Given the description of an element on the screen output the (x, y) to click on. 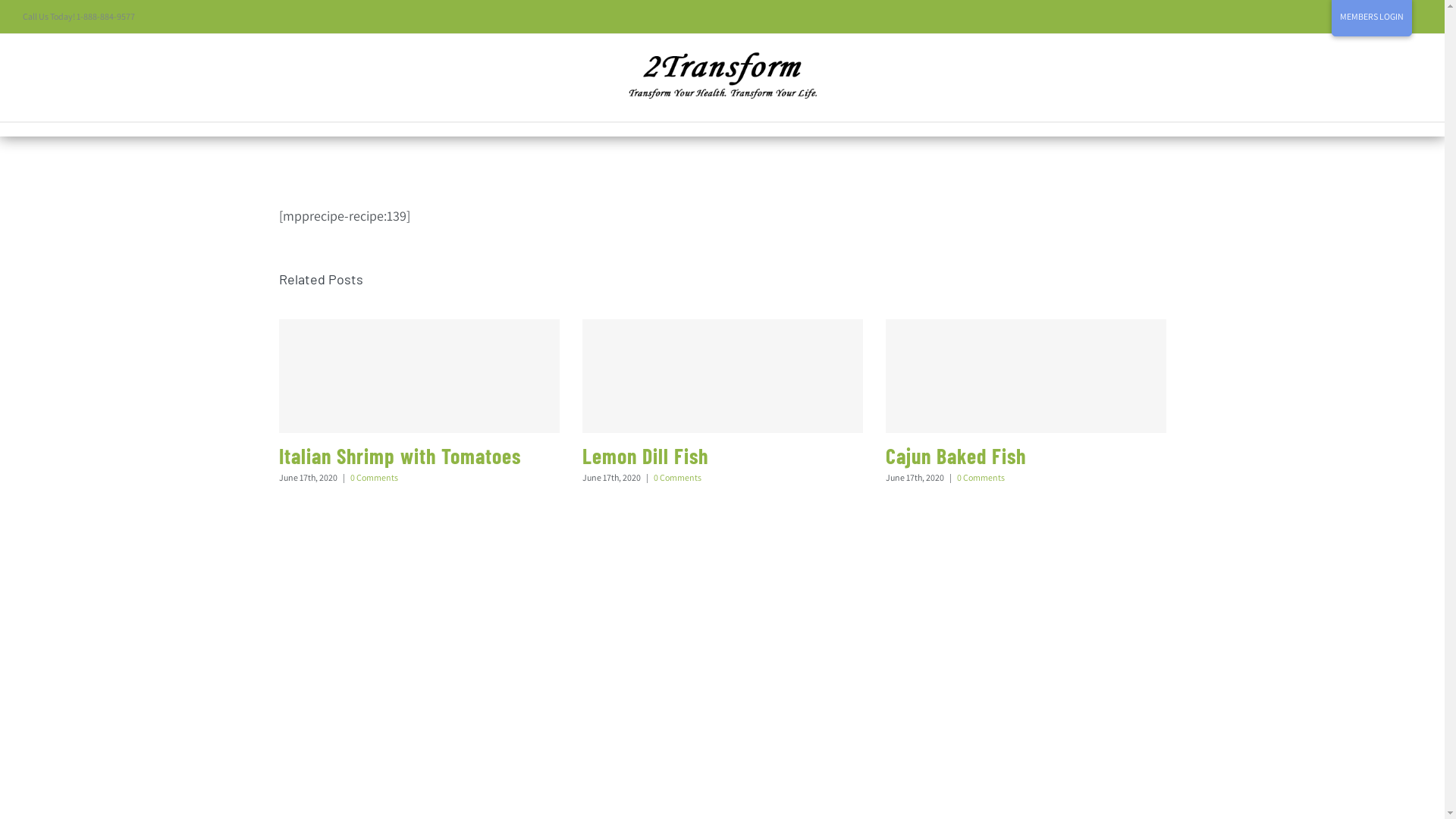
MEMBERS LOGIN Element type: text (1371, 16)
0 Comments Element type: text (677, 477)
Lemon Dill Fish Element type: text (645, 455)
Italian Shrimp with Tomatoes Element type: text (399, 455)
0 Comments Element type: text (374, 477)
Cajun Baked Fish Element type: text (955, 455)
0 Comments Element type: text (980, 477)
